Given the description of an element on the screen output the (x, y) to click on. 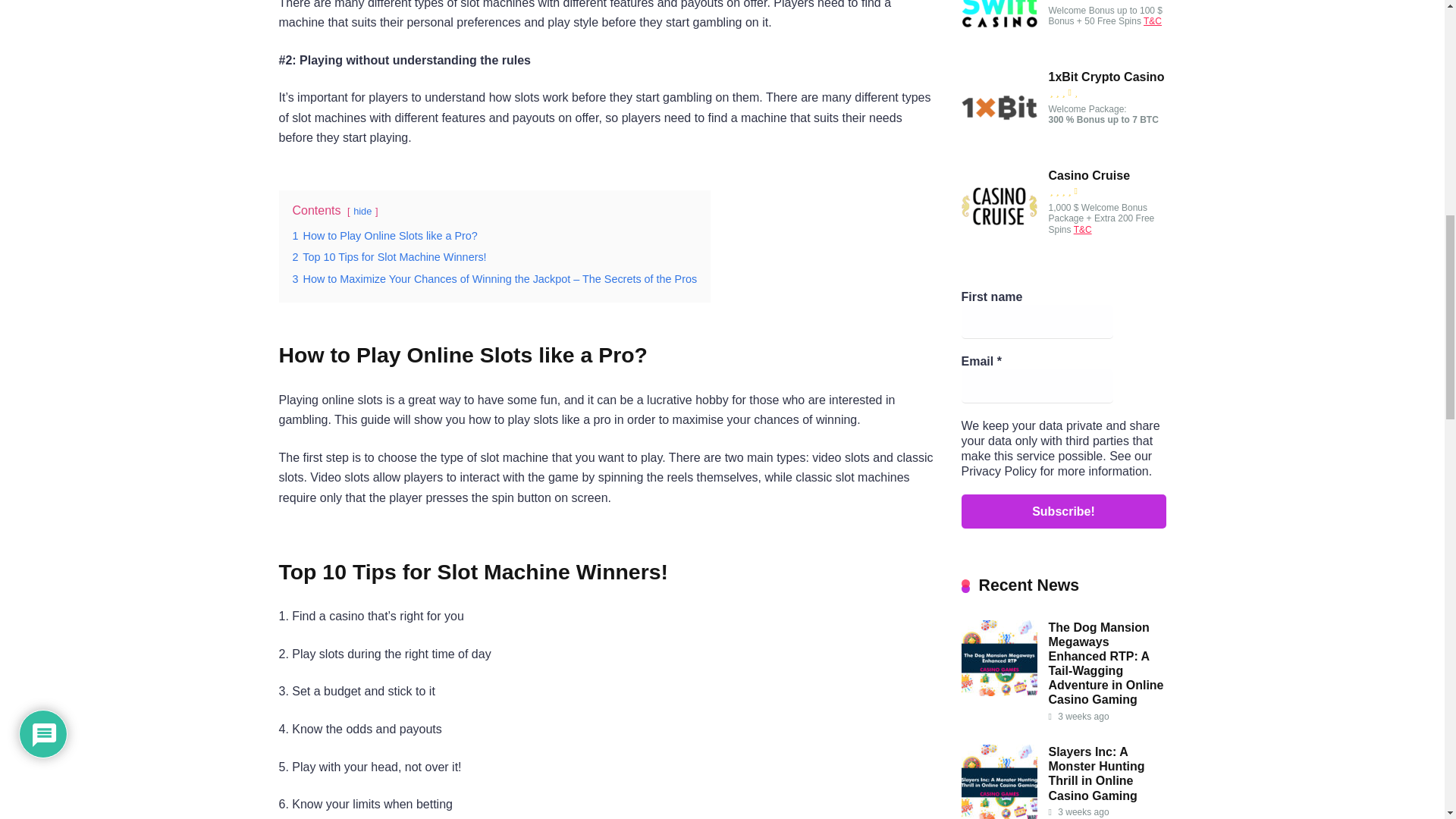
1 How to Play Online Slots like a Pro? (384, 235)
hide (362, 211)
2 Top 10 Tips for Slot Machine Winners! (389, 256)
Subscribe! (1063, 511)
